Given the description of an element on the screen output the (x, y) to click on. 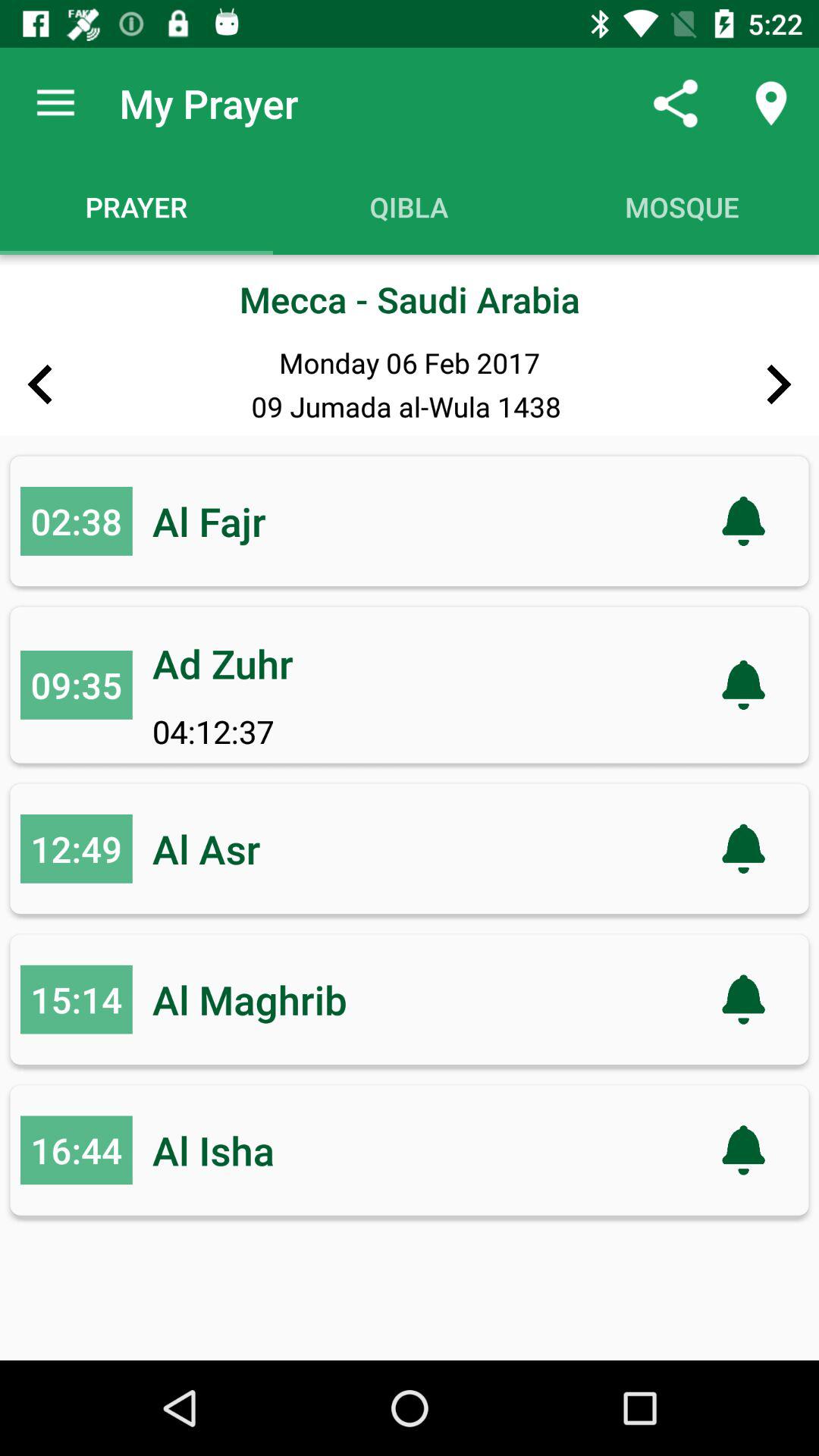
open the icon below 02:38 icon (76, 684)
